Given the description of an element on the screen output the (x, y) to click on. 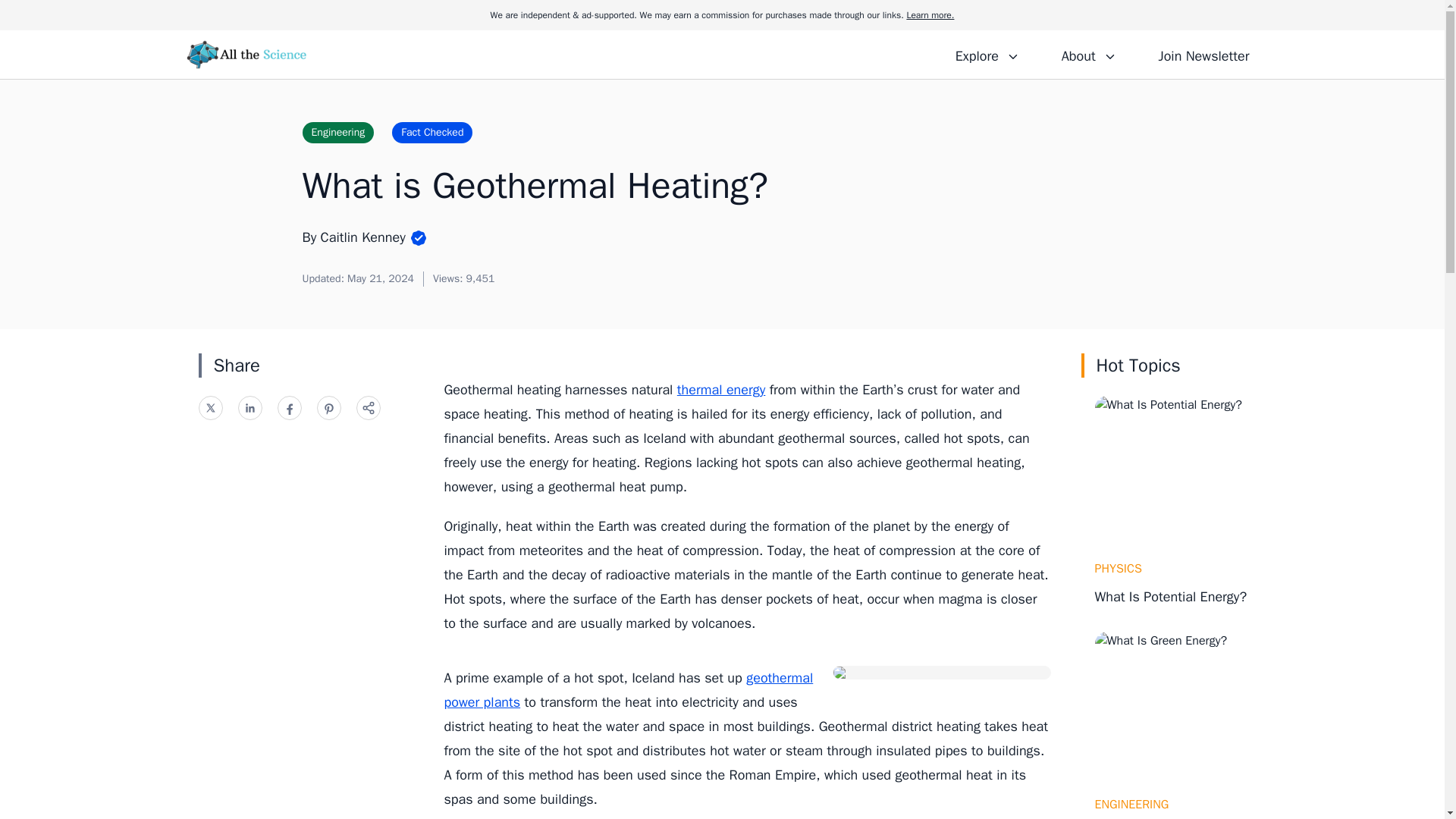
Explore (986, 54)
Engineering (337, 132)
About (1088, 54)
Join Newsletter (1202, 54)
Fact Checked (431, 132)
Learn more. (929, 15)
